Given the description of an element on the screen output the (x, y) to click on. 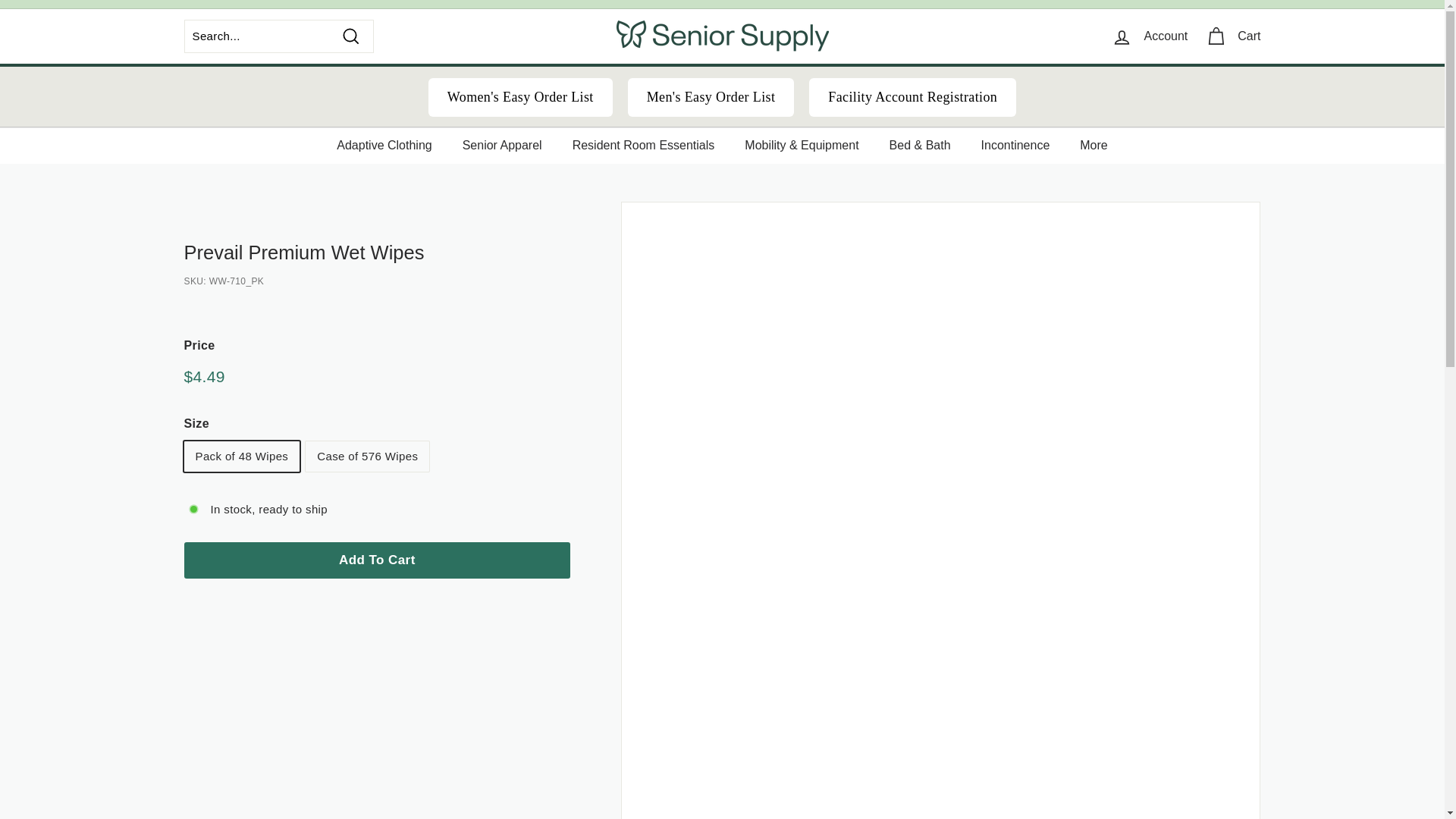
Women's Easy Order List (520, 97)
Men's Easy Order List (710, 97)
Facility Account Registration (912, 97)
Account (1149, 35)
Adaptive Clothing (383, 145)
Resident Room Essentials (643, 145)
Senior Apparel (501, 145)
